Given the description of an element on the screen output the (x, y) to click on. 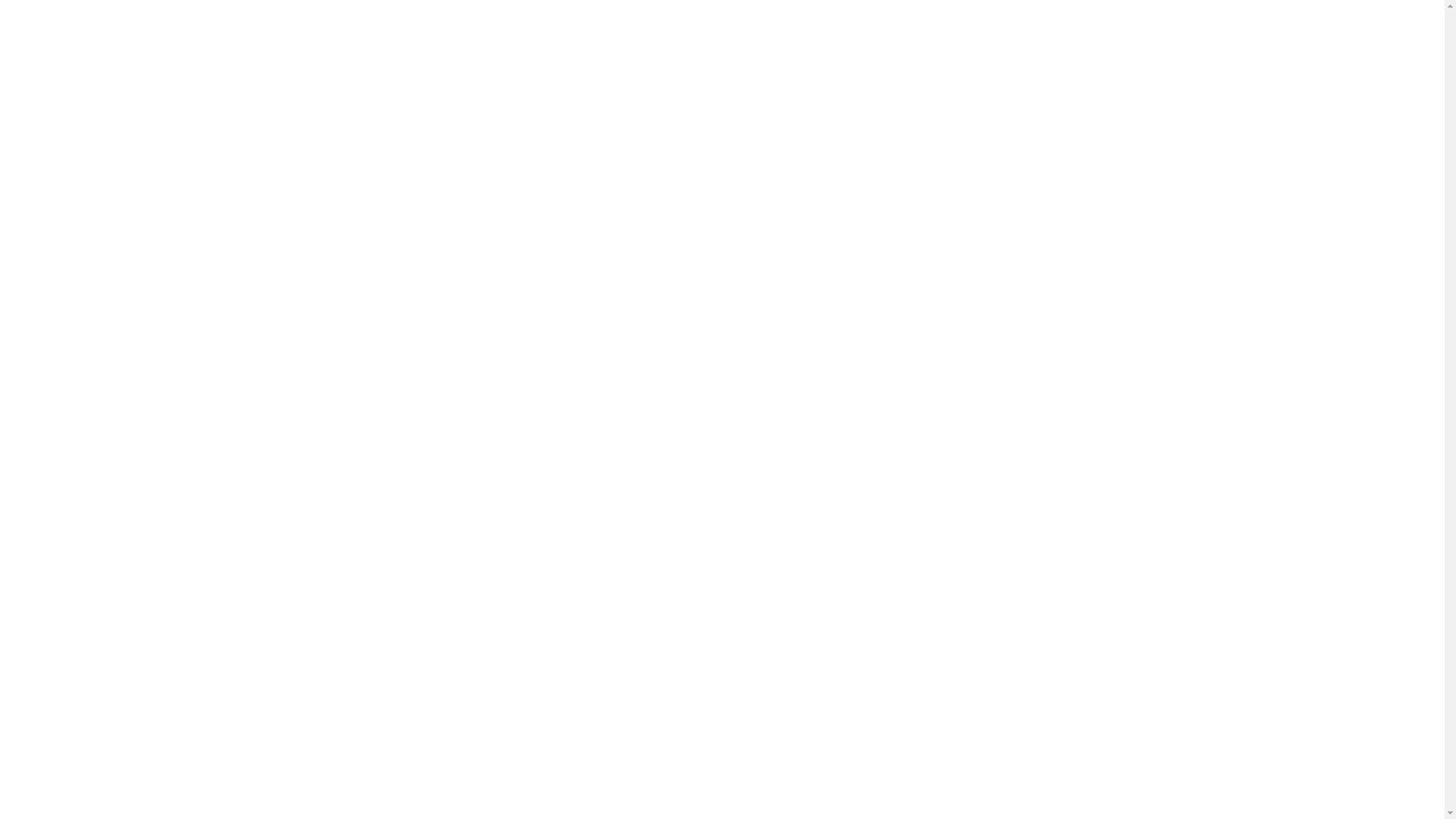
Website by 61 Design Element type: text (804, 795)
Competitions Terms & Conditions Element type: text (611, 668)
HOME Element type: text (509, 37)
Facebook Element type: text (315, 693)
2022 HARVEST DECLARATION COMPETITION Element type: text (1042, 611)
DATA SUBSCRIBER Element type: text (706, 37)
GROWER Element type: text (587, 37)
NGR Privacy Policy Element type: text (576, 629)
MYNGR SYSTEM STATUS Element type: text (879, 37)
LinkedIn Element type: text (379, 693)
Privacy Awareness Week 2022 Supporter Element type: text (1042, 683)
Instagram Element type: text (347, 693)
YouTube Element type: text (411, 693)
Contact Us Element type: text (557, 649)
BACK TO HOMEPAGE Element type: text (722, 323)
Websites General Terms of Use Element type: text (607, 609)
LOG INTO MYNGR Element type: text (1049, 37)
FIAC Accept NGR Commodity Vendor Declaration Element type: text (1042, 539)
